Given the description of an element on the screen output the (x, y) to click on. 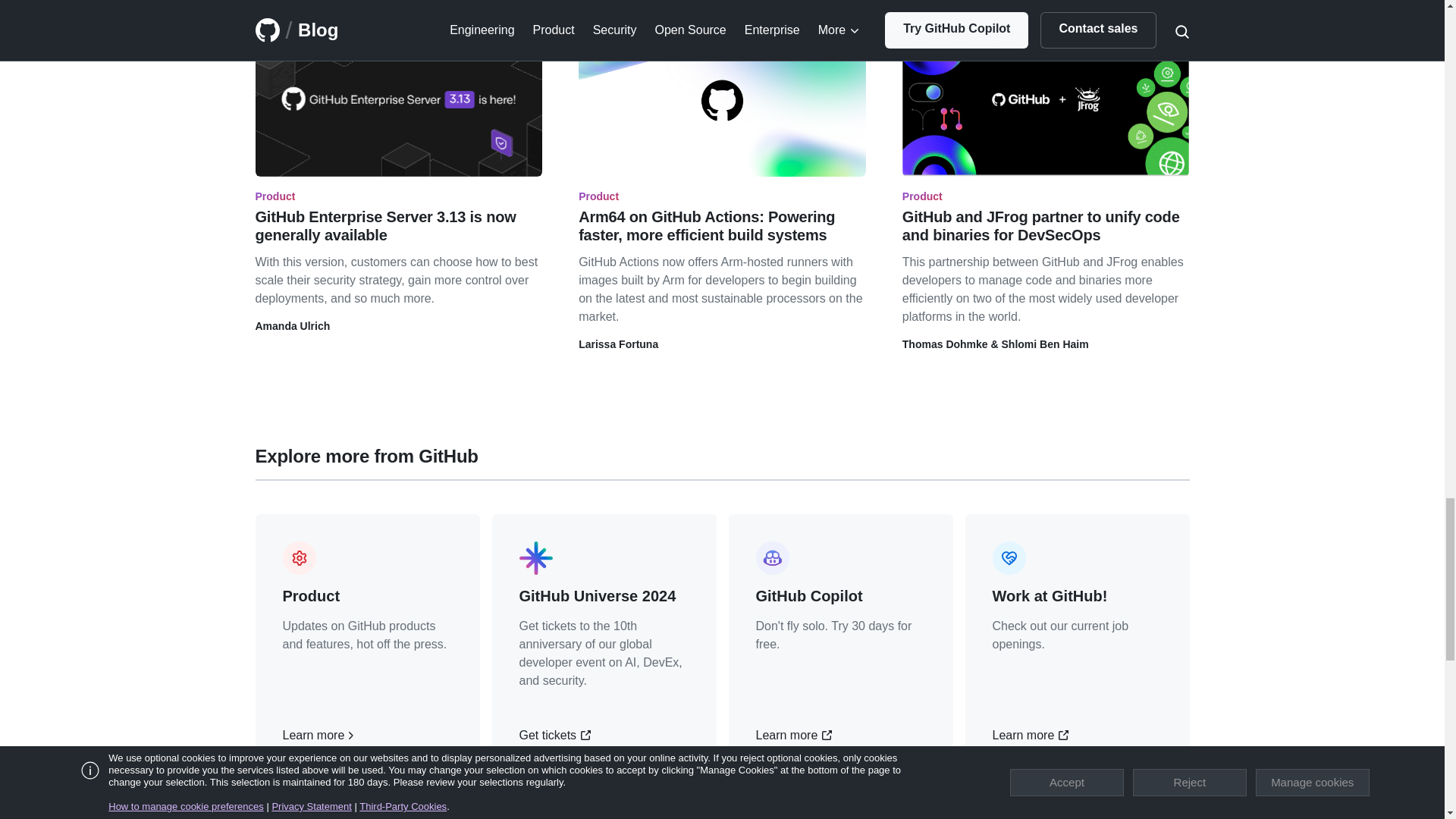
Larissa Fortuna (618, 344)
Shlomi Ben Haim (1045, 344)
Thomas Dohmke (945, 344)
Amanda Ulrich (292, 325)
